Given the description of an element on the screen output the (x, y) to click on. 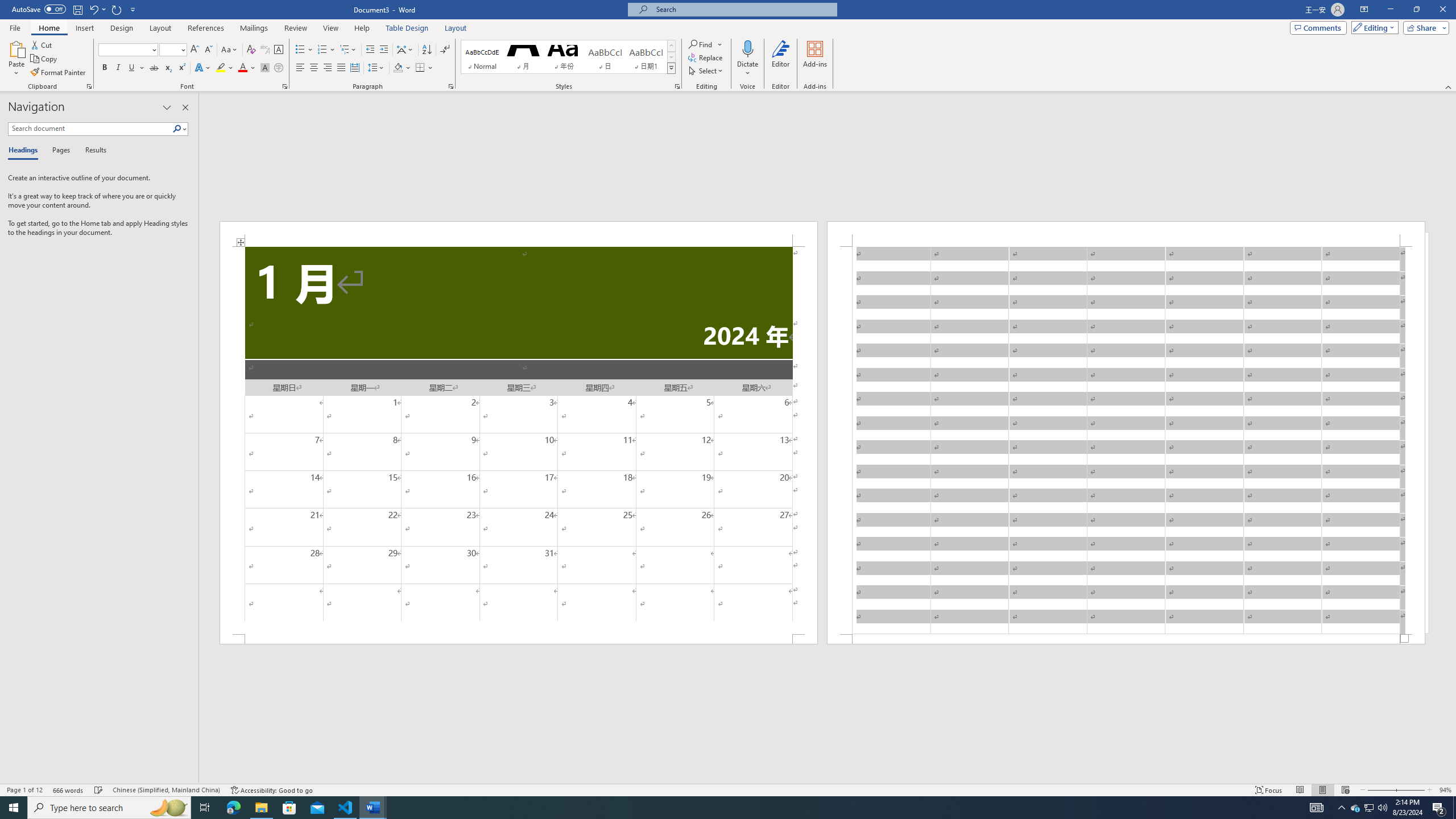
Dictate (747, 58)
Shading (402, 67)
Strikethrough (154, 67)
Bullets (300, 49)
Collapse the Ribbon (1448, 86)
Review (295, 28)
Find (700, 44)
Headings (25, 150)
Cut (42, 44)
Minimize (1390, 9)
Customize Quick Access Toolbar (133, 9)
Ribbon Display Options (1364, 9)
Microsoft search (742, 9)
Pages (59, 150)
